Given the description of an element on the screen output the (x, y) to click on. 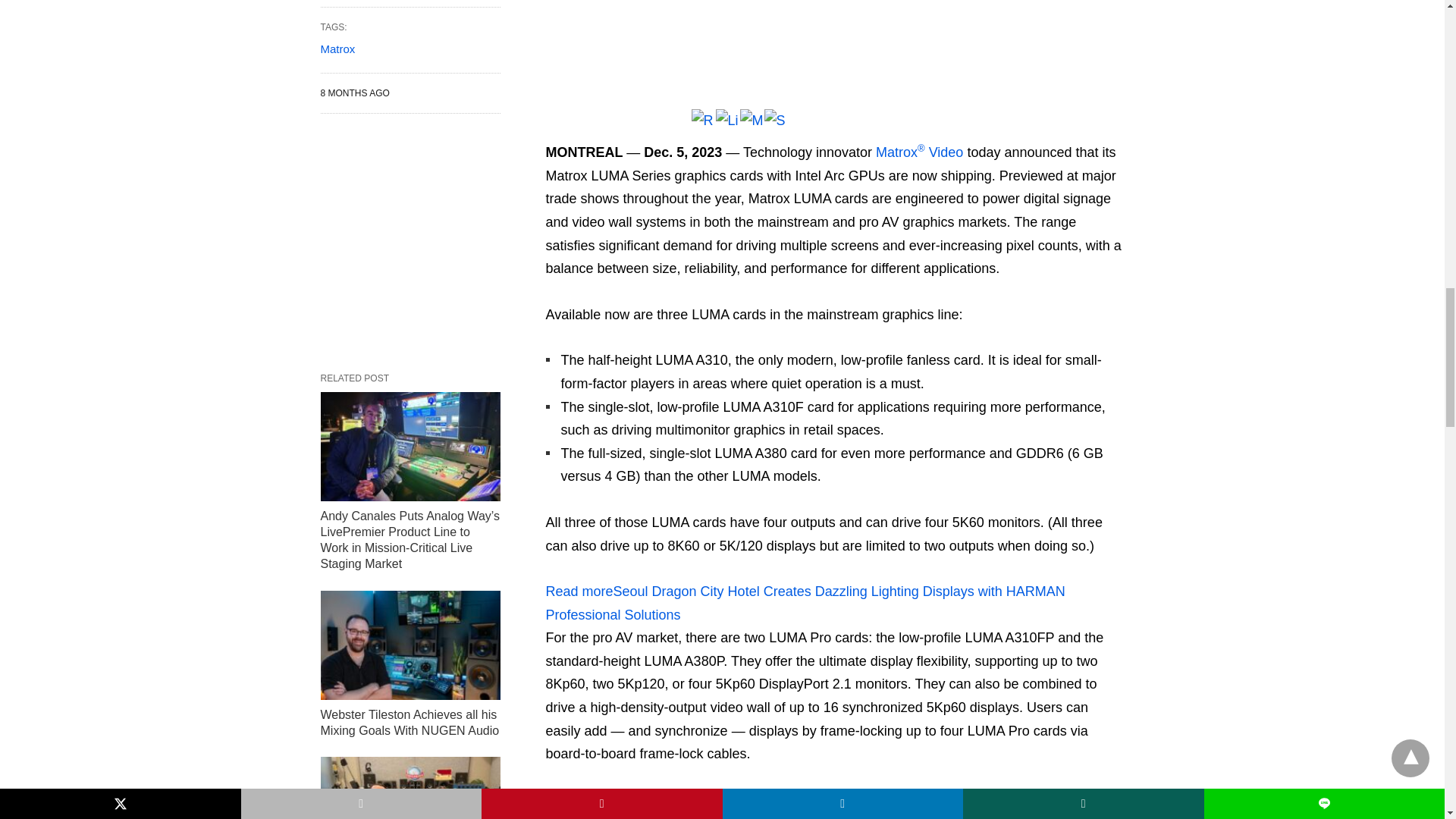
LinkedIn (727, 128)
Flipboard (654, 128)
WhatsApp (630, 128)
Reddit (703, 128)
Gmail (678, 128)
Twitter (582, 128)
Email (606, 128)
Messenger (751, 128)
Facebook (558, 128)
